Given the description of an element on the screen output the (x, y) to click on. 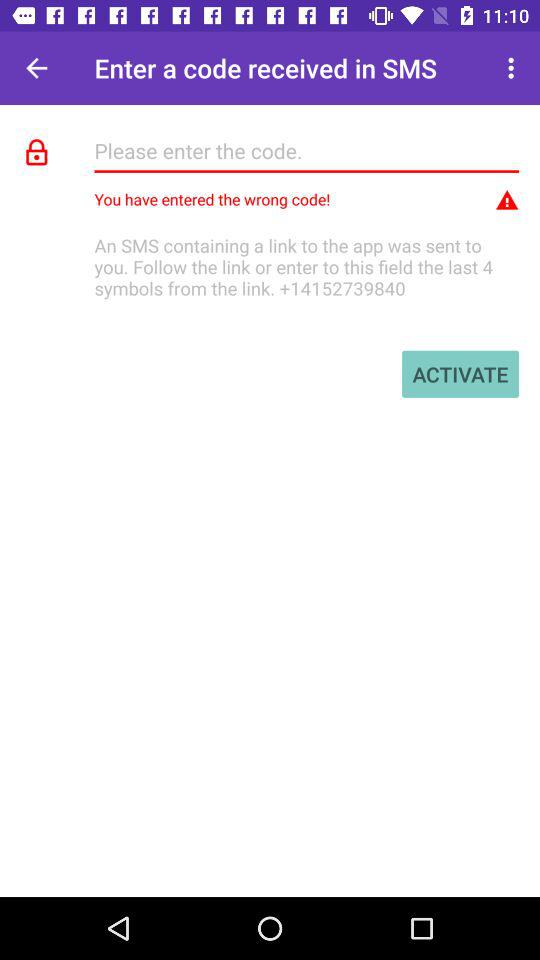
field to enter information (306, 150)
